Given the description of an element on the screen output the (x, y) to click on. 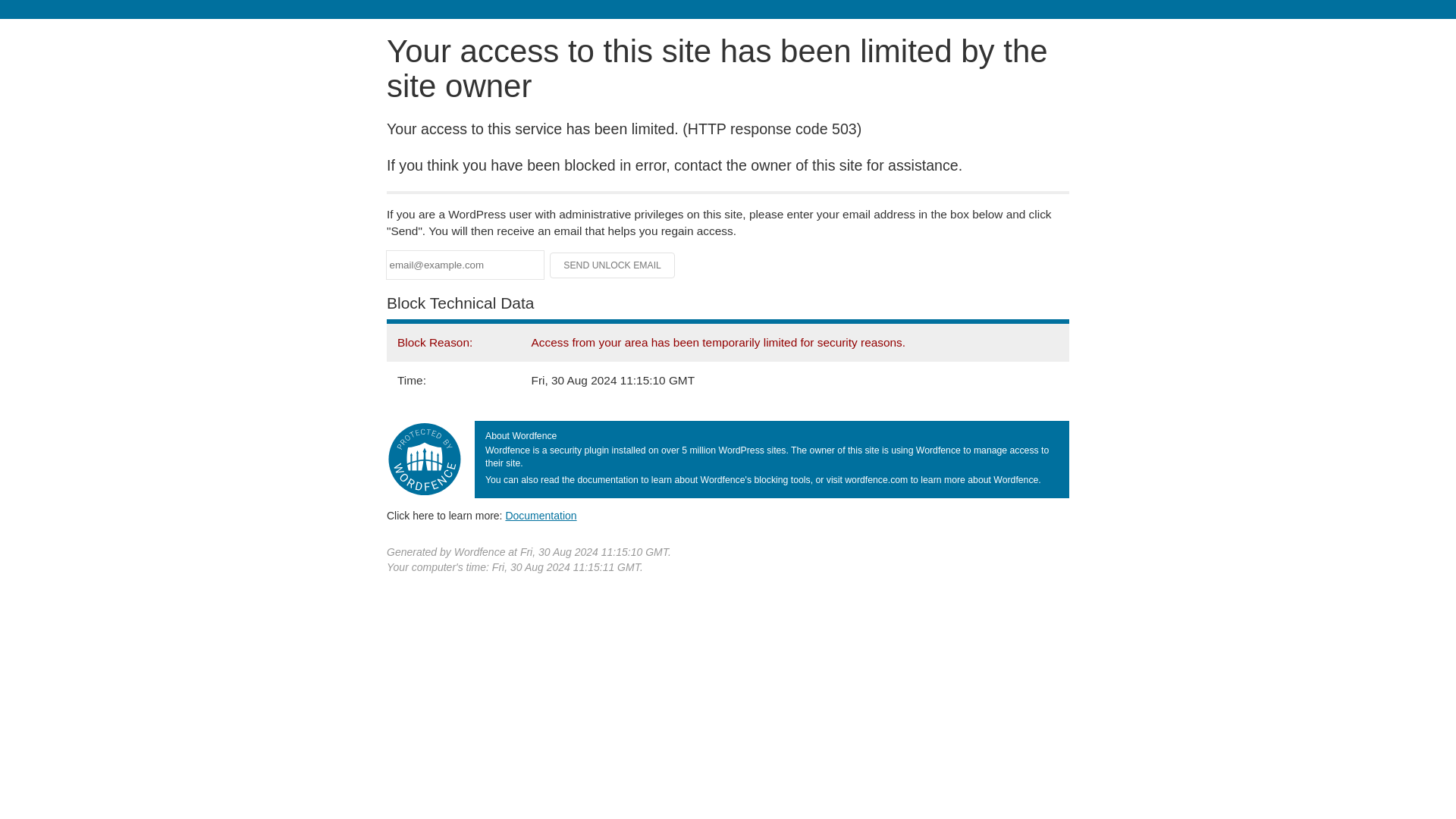
Documentation (540, 515)
Send Unlock Email (612, 265)
Send Unlock Email (612, 265)
